Given the description of an element on the screen output the (x, y) to click on. 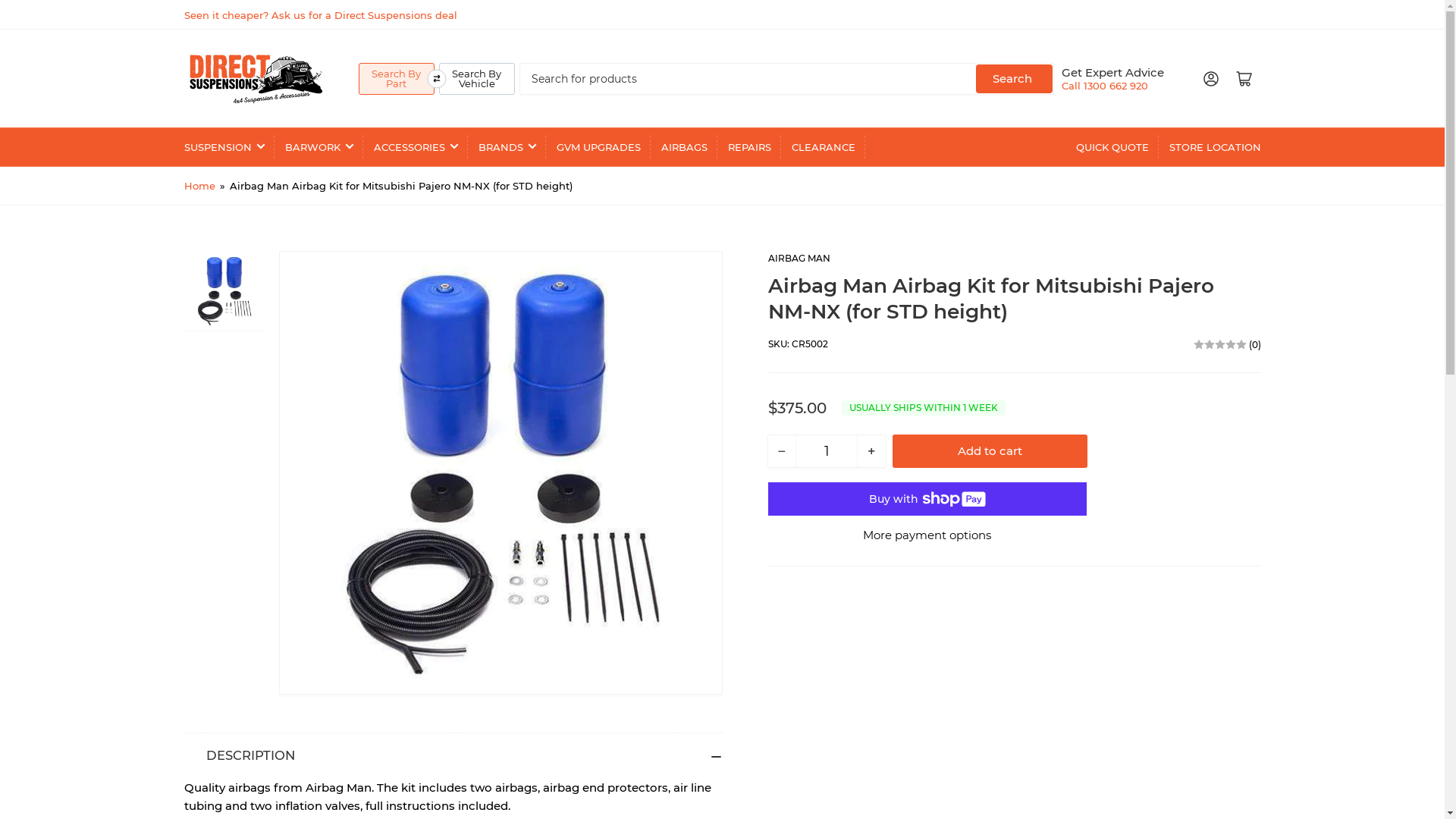
ACCESSORIES Element type: text (415, 147)
podium webchat widget prompt Element type: hover (1315, 644)
AIRBAG MAN Element type: text (798, 257)
Open mini cart Element type: text (1243, 78)
Open media 1 in modal Element type: text (500, 472)
Log in Element type: text (1209, 78)
Seen it cheaper? Ask us for a Direct Suspensions deal Element type: text (319, 15)
DESCRIPTION Element type: text (452, 755)
BARWORK Element type: text (319, 147)
Add to cart Element type: text (989, 451)
REPAIRS Element type: text (749, 147)
GVM UPGRADES Element type: text (598, 147)
STORE LOCATION Element type: text (1215, 147)
CLEARANCE Element type: text (823, 147)
Call 1300 662 920 Element type: text (1104, 85)
SUSPENSION Element type: text (223, 147)
QUICK QUOTE Element type: text (1111, 147)
More payment options Element type: text (926, 534)
Search Element type: text (1013, 78)
Load image 1 in gallery view Element type: text (224, 290)
BRANDS Element type: text (506, 147)
(0) Element type: text (1227, 343)
Home Element type: text (198, 185)
AIRBAGS Element type: text (684, 147)
